Given the description of an element on the screen output the (x, y) to click on. 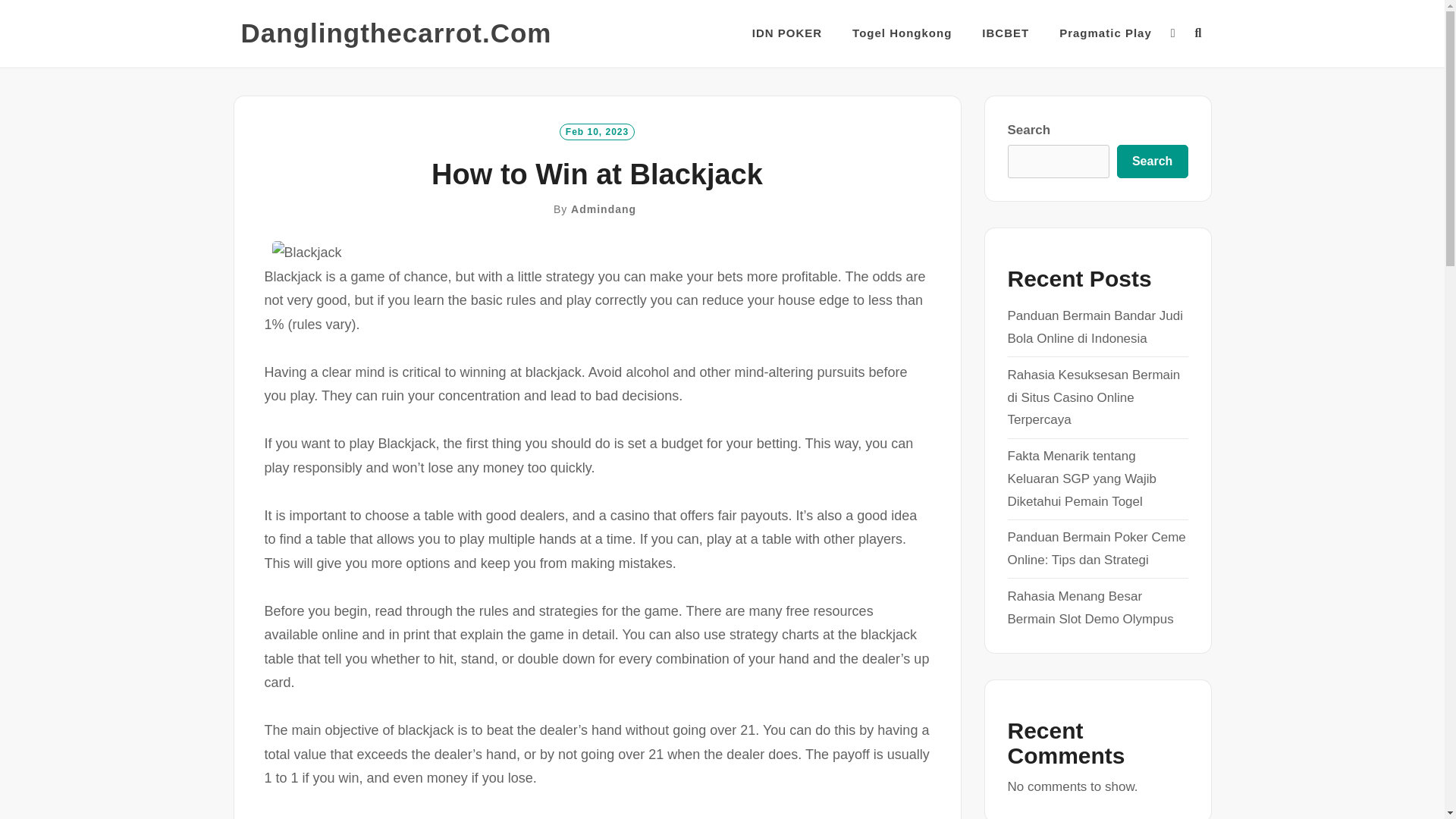
Rahasia Menang Besar Bermain Slot Demo Olympus (1090, 607)
Panduan Bermain Poker Ceme Online: Tips dan Strategi (1096, 548)
IBCBET (1005, 33)
Pragmatic Play (1105, 33)
Togel Hongkong (901, 33)
Feb 10, 2023 (596, 130)
Search (1152, 161)
Danglingthecarrot.Com (396, 33)
Admindang (603, 209)
Rahasia Kesuksesan Bermain di Situs Casino Online Terpercaya (1093, 397)
IDN POKER (787, 33)
Panduan Bermain Bandar Judi Bola Online di Indonesia (1094, 326)
